Given the description of an element on the screen output the (x, y) to click on. 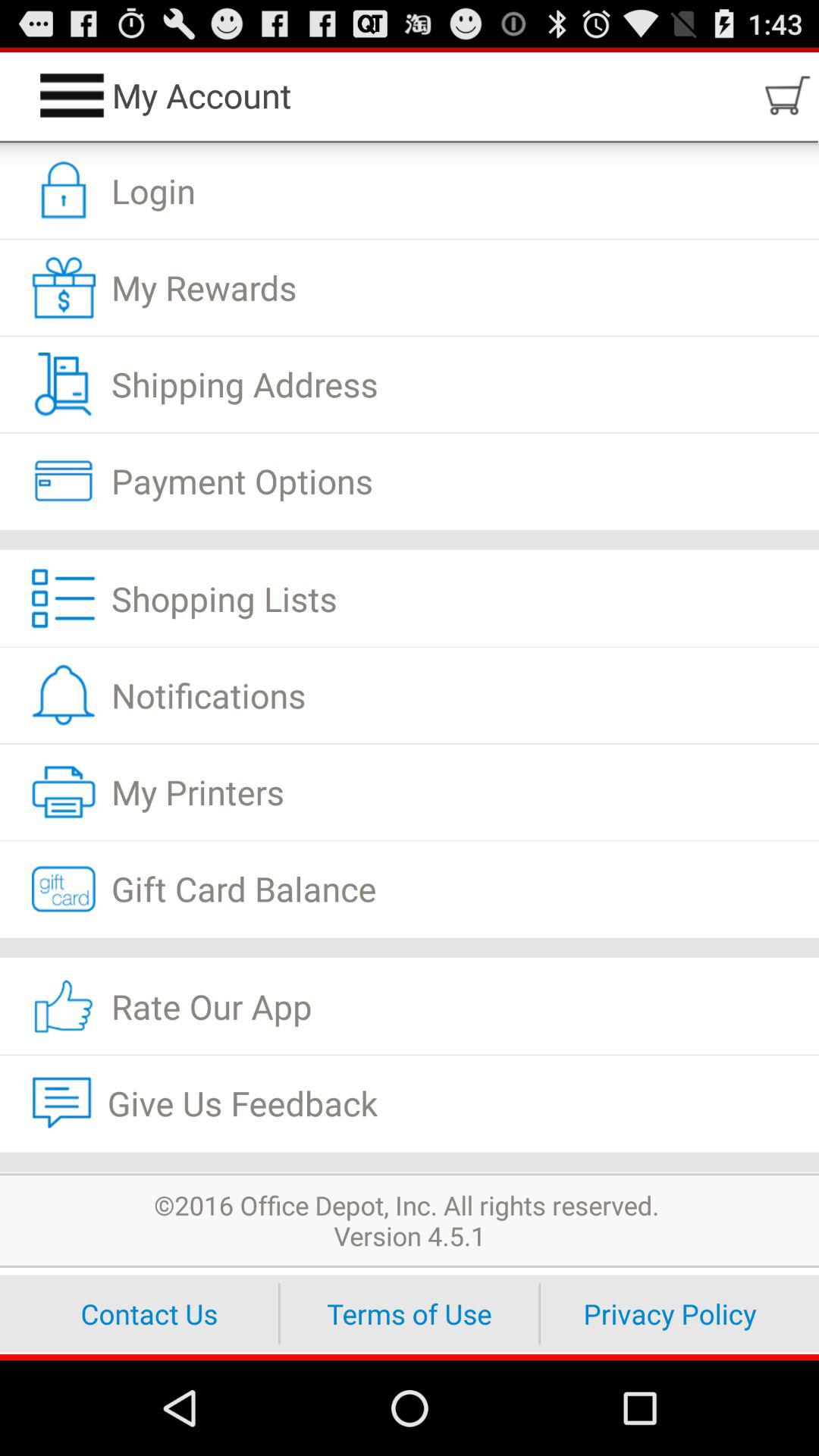
choose app above the rate our app item (409, 947)
